Given the description of an element on the screen output the (x, y) to click on. 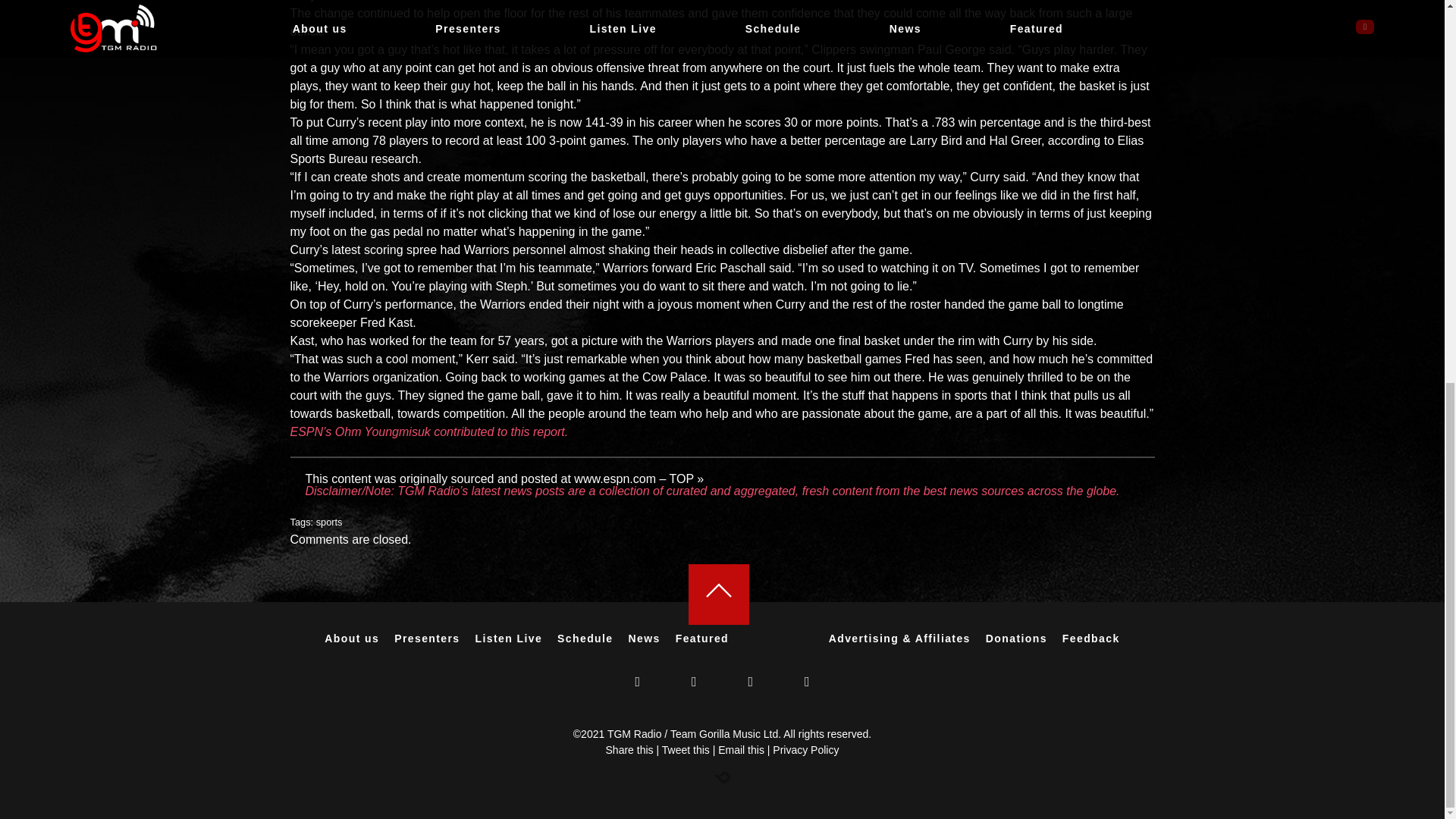
Featured (702, 638)
Donations (1015, 638)
Schedule (584, 638)
Paul George (951, 49)
Listen Live (511, 638)
News (509, 638)
Presenters (644, 638)
About us (427, 638)
Eric Paschall (351, 638)
sports (730, 267)
